Given the description of an element on the screen output the (x, y) to click on. 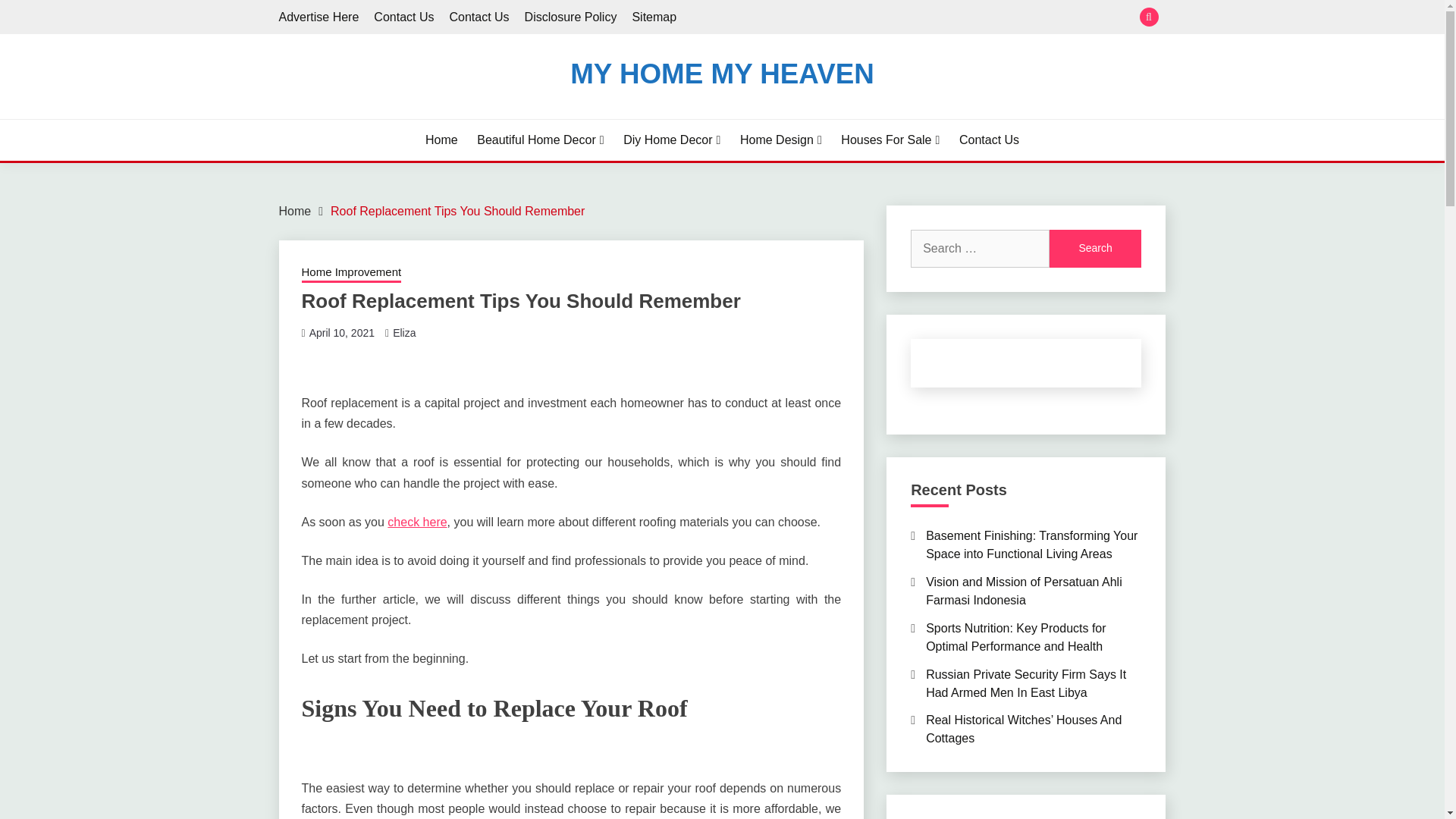
Disclosure Policy (570, 16)
Diy Home Decor (671, 140)
Houses For Sale (890, 140)
Contact Us (989, 140)
Beautiful Home Decor (540, 140)
Home (295, 210)
Contact Us (478, 16)
Search (1095, 248)
Advertise Here (319, 16)
Roof Replacement Tips You Should Remember (457, 210)
